Given the description of an element on the screen output the (x, y) to click on. 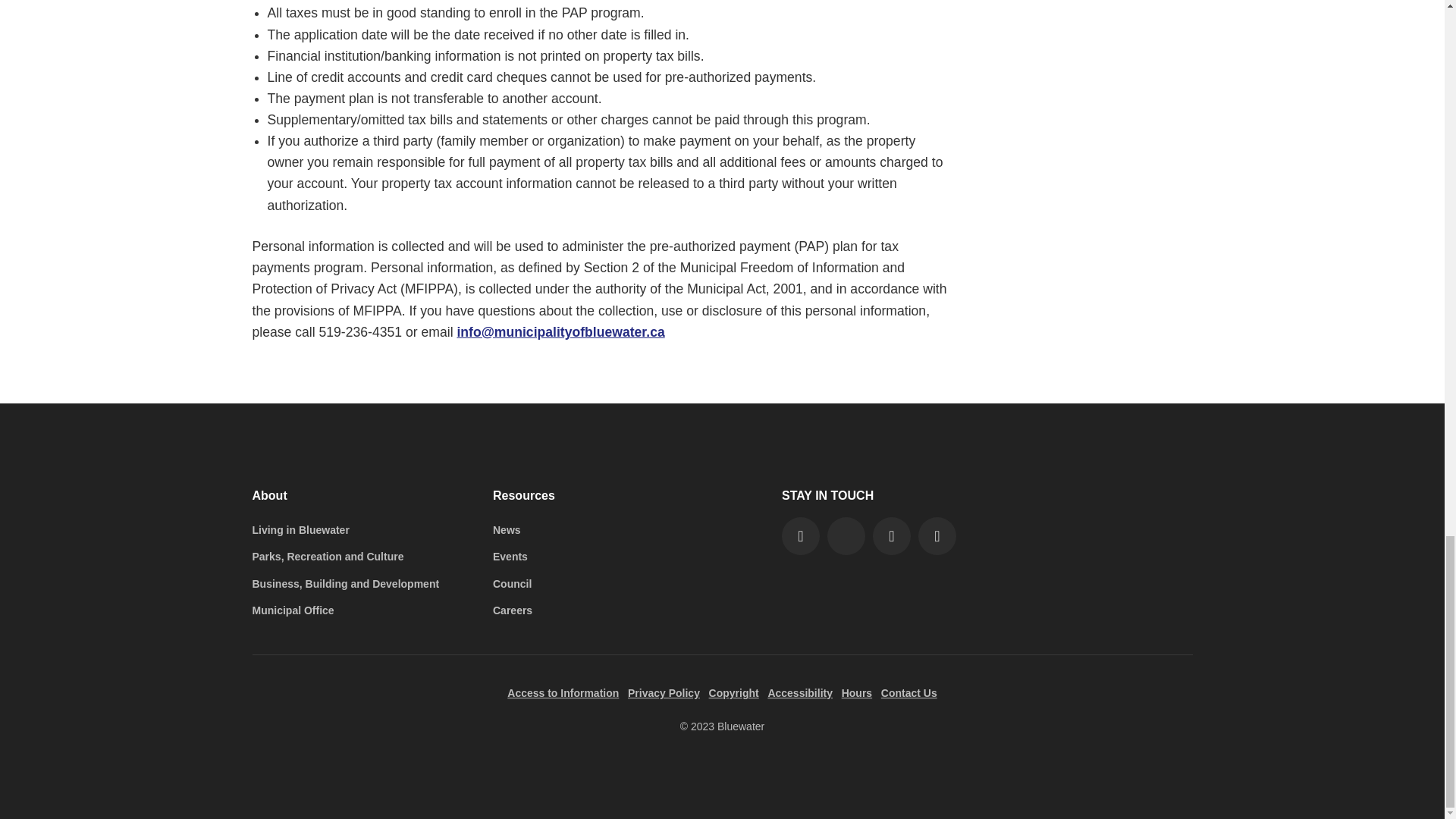
Contact Us (908, 693)
Email Municipality of Bluewater (560, 331)
Facebook (800, 535)
YouTube (937, 535)
Instagram (891, 535)
Operating Hours (856, 693)
Twitter (845, 535)
Accessibility (799, 693)
Freedom of Information (562, 693)
